Given the description of an element on the screen output the (x, y) to click on. 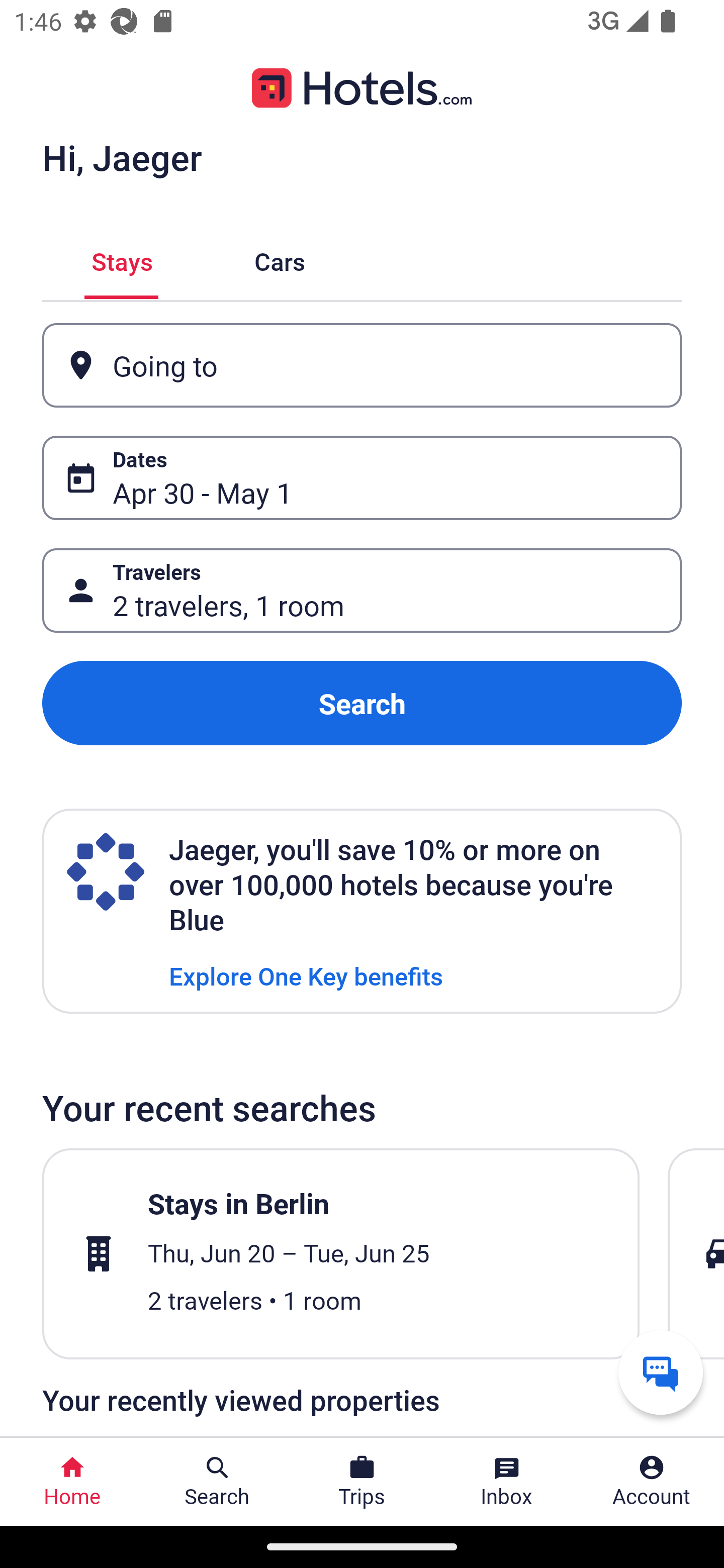
Hi, Jaeger (121, 156)
Cars (279, 259)
Going to Button (361, 365)
Dates Button Apr 30 - May 1 (361, 477)
Travelers Button 2 travelers, 1 room (361, 590)
Search (361, 702)
Get help from a virtual agent (660, 1371)
Search Search Button (216, 1481)
Trips Trips Button (361, 1481)
Inbox Inbox Button (506, 1481)
Account Profile. Button (651, 1481)
